Given the description of an element on the screen output the (x, y) to click on. 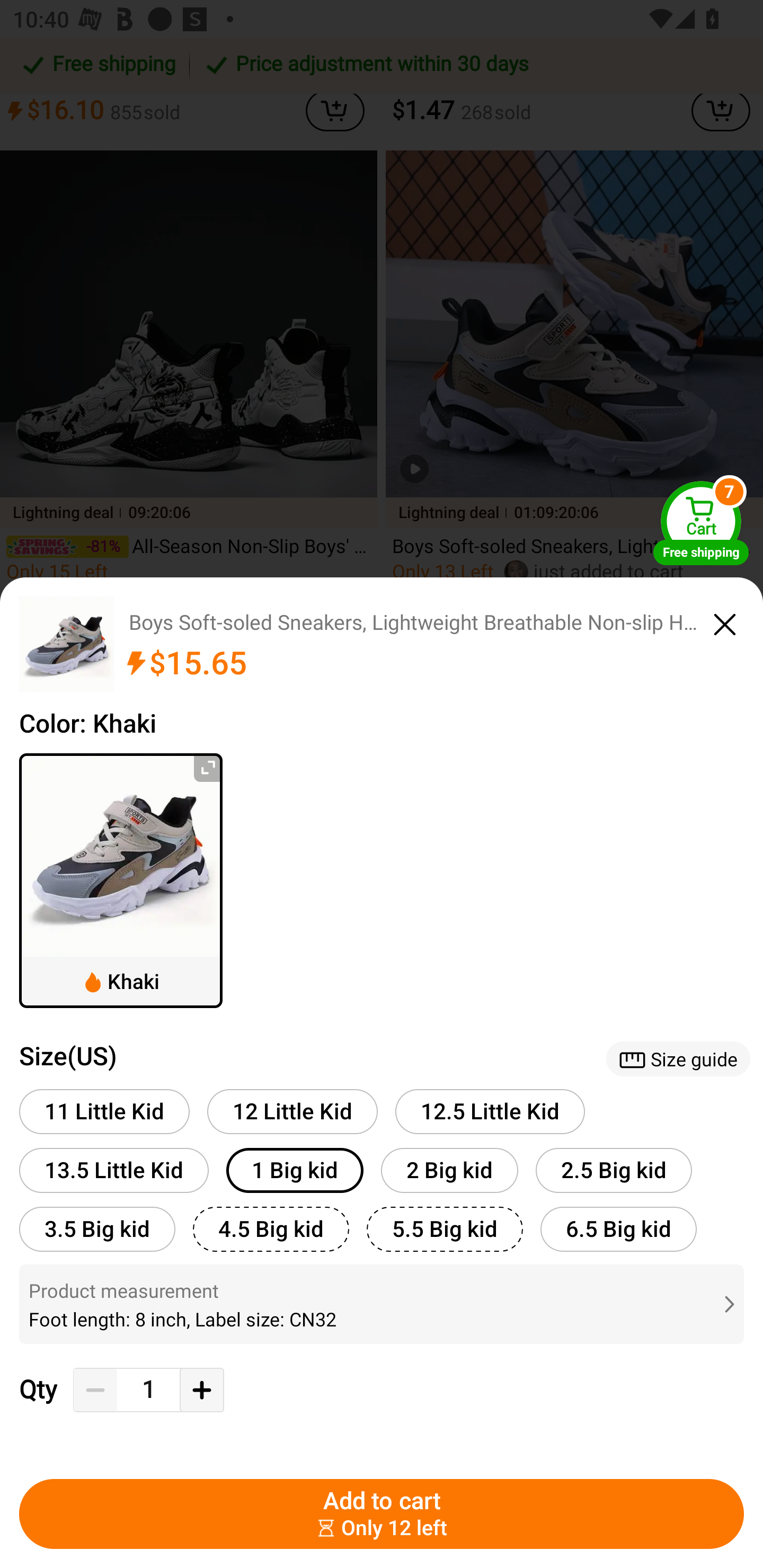
Cart Free shipping Cart (701, 522)
close (724, 621)
Khaki ￼Khaki (120, 880)
￼Size guide (677, 1058)
 11 Little Kid (104, 1111)
 12 Little Kid (292, 1111)
 12.5 Little Kid (490, 1111)
 13.5 Little Kid (114, 1170)
 1 Big kid (294, 1170)
 2 Big kid (449, 1170)
 2.5 Big kid (613, 1170)
 3.5 Big kid (97, 1229)
 4.5 Big kid (271, 1229)
 5.5 Big kid (444, 1229)
 6.5 Big kid (618, 1229)
Decrease Quantity Button (95, 1389)
Add Quantity Button (201, 1389)
1 (148, 1389)
Add to cart ￼￼Only 12 left (381, 1513)
